Given the description of an element on the screen output the (x, y) to click on. 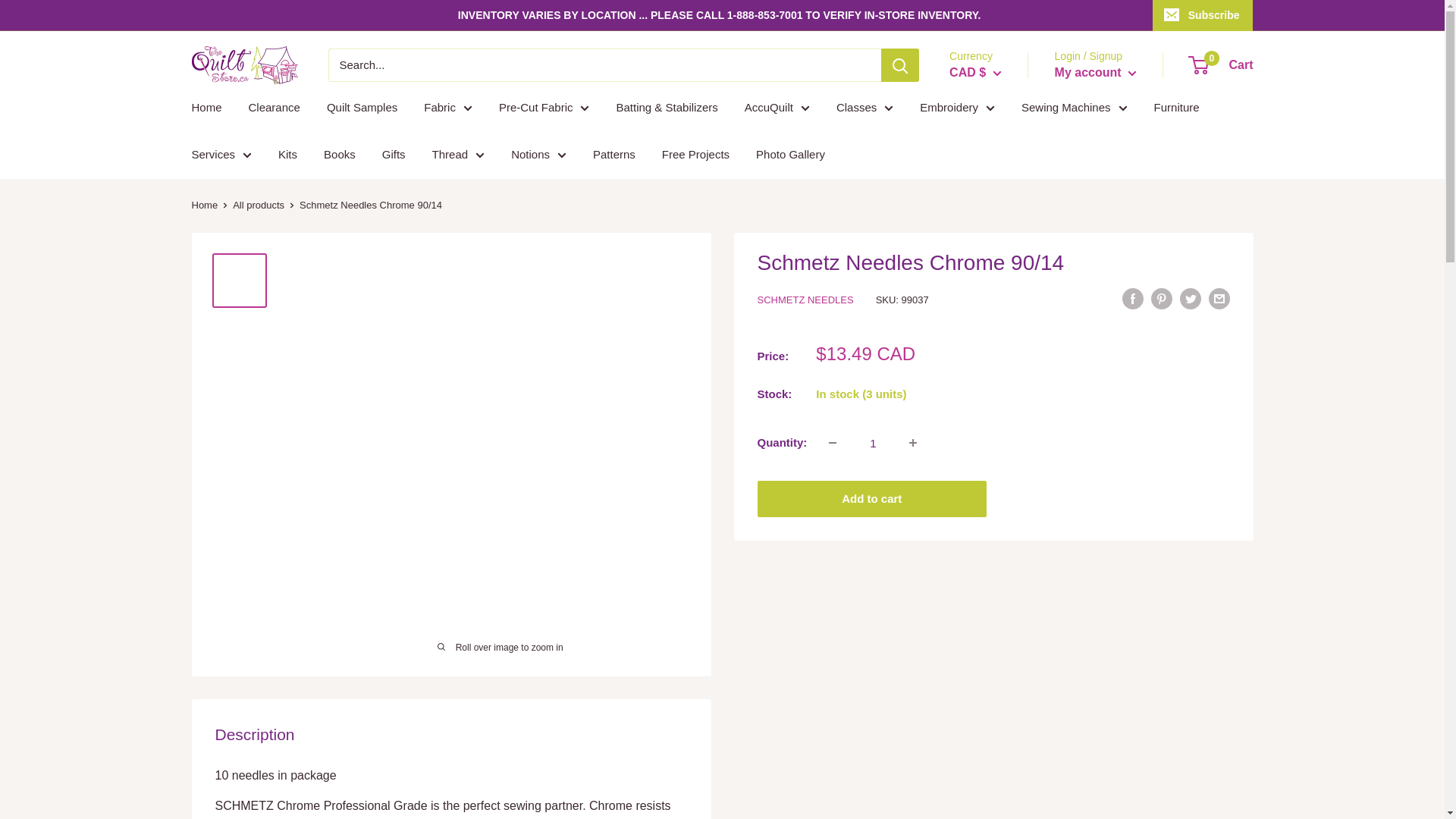
Decrease quantity by 1 (832, 442)
1 (872, 442)
Subscribe (1203, 15)
Increase quantity by 1 (912, 442)
